Given the description of an element on the screen output the (x, y) to click on. 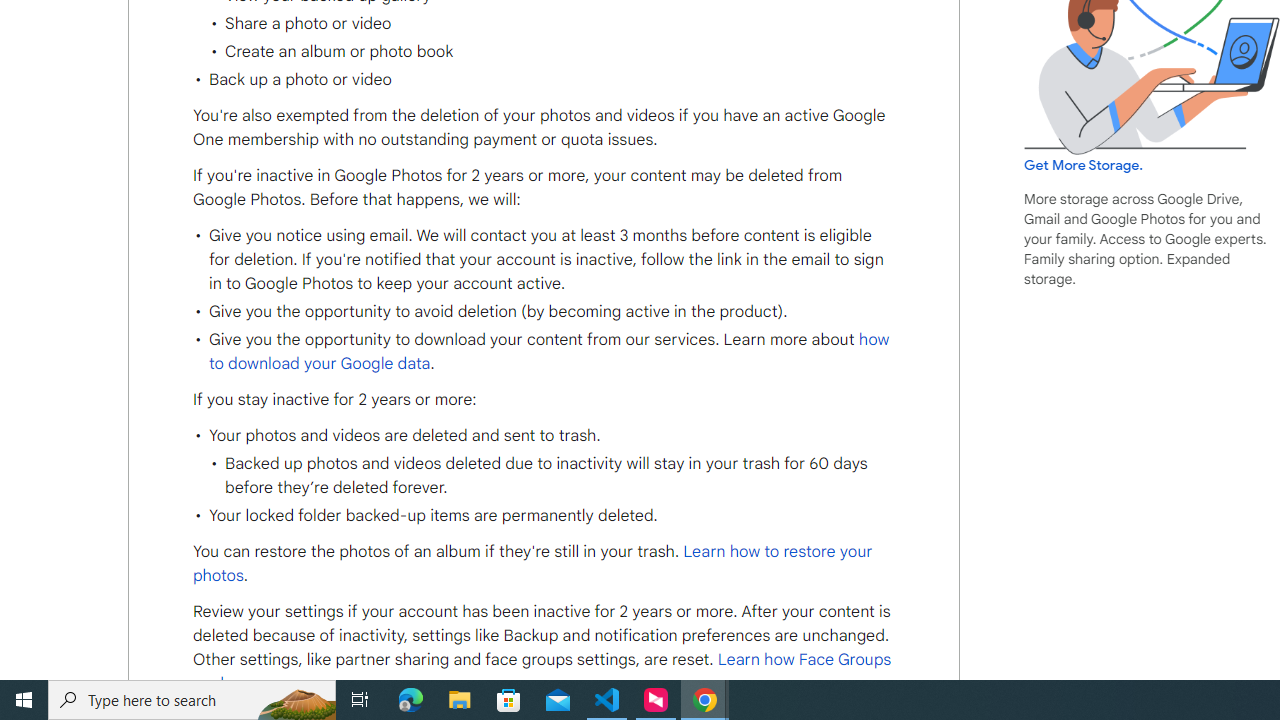
Learn how Face Groups works (542, 672)
Get More Storage. (1083, 165)
how to download your Google data (548, 351)
Learn how to restore your photos (532, 564)
